Given the description of an element on the screen output the (x, y) to click on. 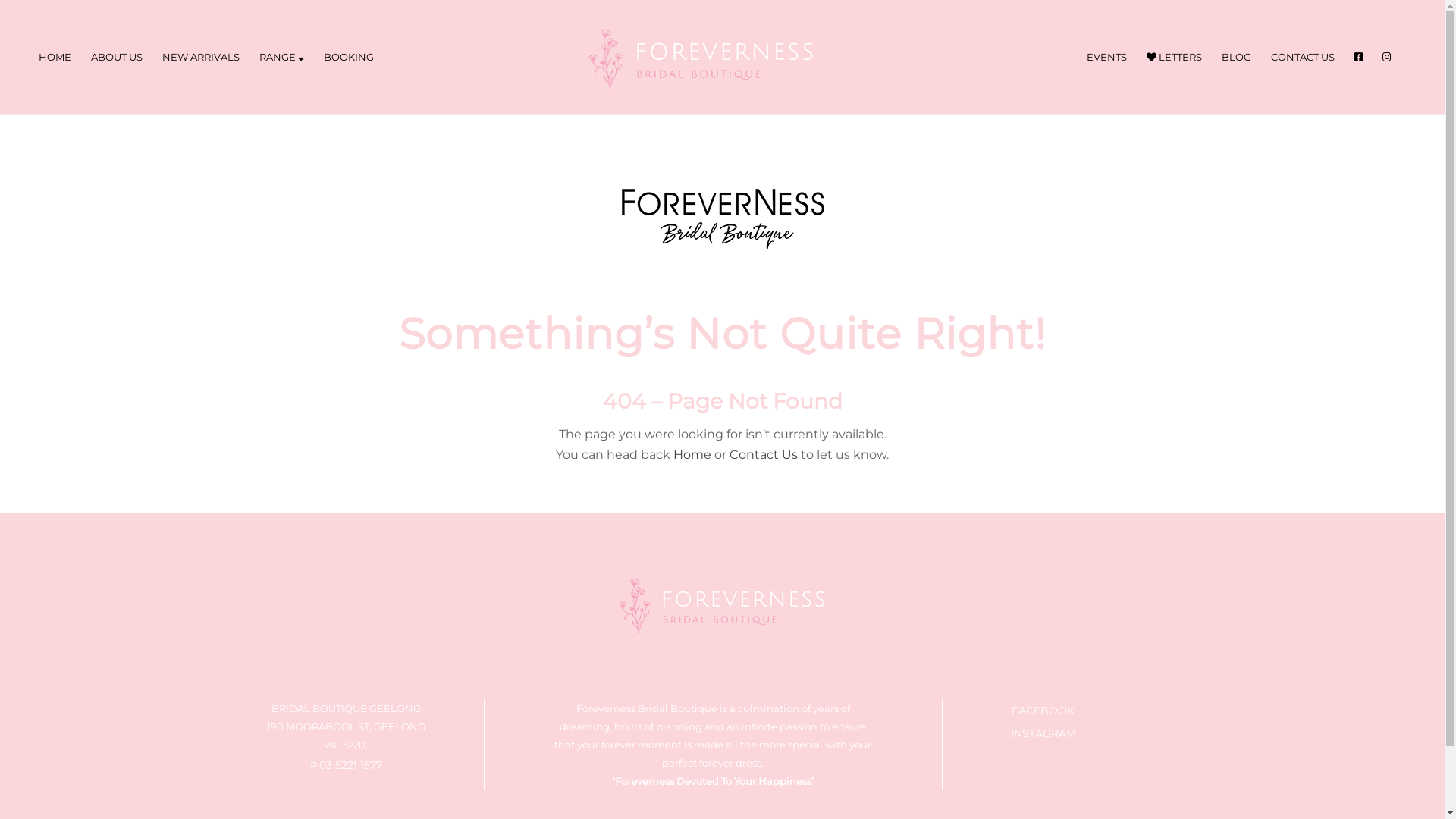
LETTERS Element type: text (1173, 56)
Home  Element type: text (693, 454)
FACEBOOK Element type: text (1042, 710)
Contact Us Element type: text (763, 454)
EVENTS Element type: text (1106, 56)
NEW ARRIVALS Element type: text (200, 56)
RANGE Element type: text (281, 56)
ABOUT US Element type: text (116, 56)
CONTACT US Element type: text (1302, 56)
HOME Element type: text (54, 56)
BOOKING Element type: text (348, 56)
03 5221 1577 Element type: text (350, 764)
BLOG Element type: text (1236, 56)
INSTAGRAM Element type: text (1043, 733)
